Given the description of an element on the screen output the (x, y) to click on. 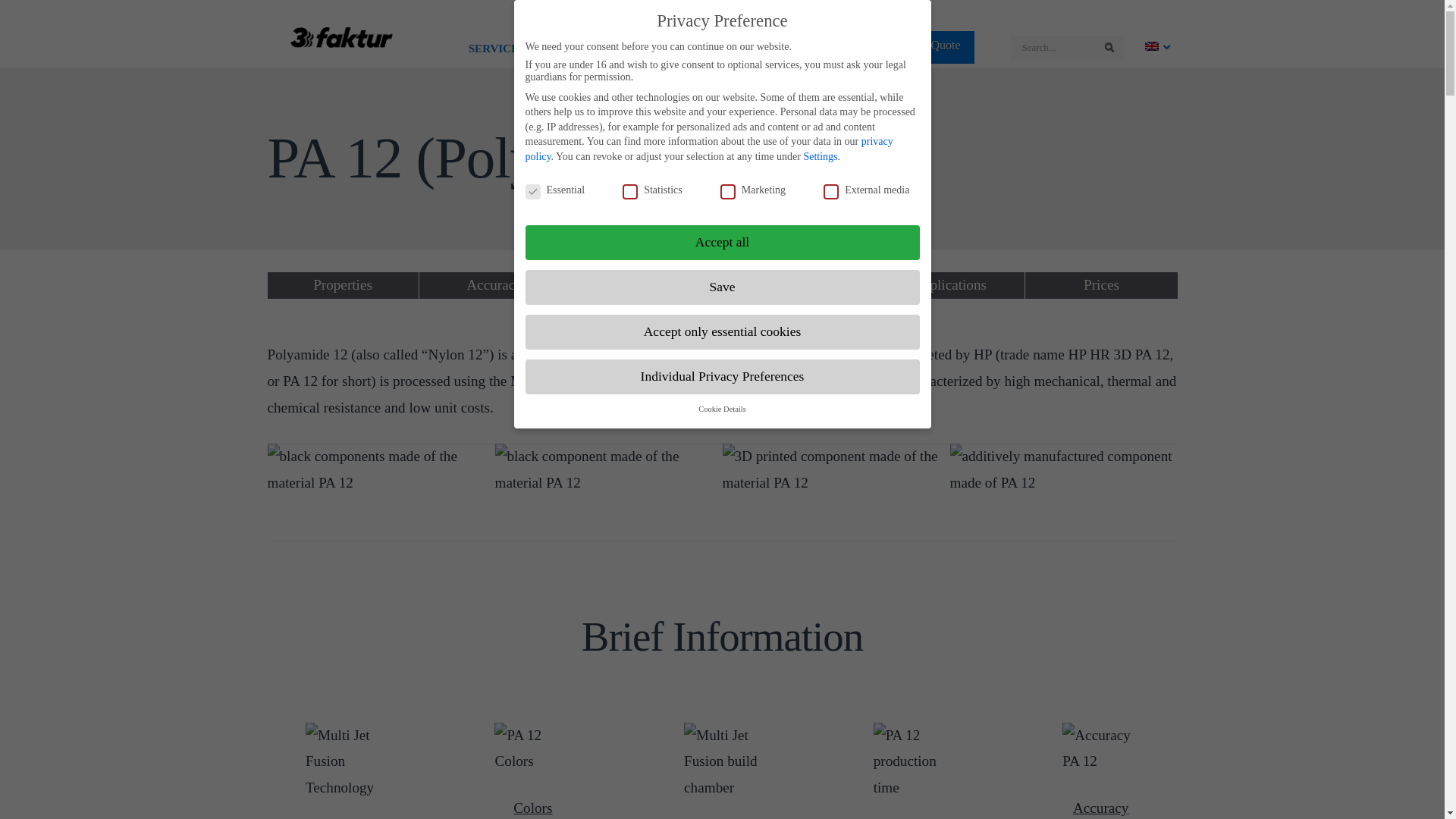
Accept all Element type: text (721, 242)
Cookie Details Element type: text (722, 408)
Settings Element type: text (820, 156)
Search Element type: text (1108, 47)
Accuracy Element type: text (494, 284)
Properties Element type: text (342, 284)
Design Guidelines Element type: text (797, 284)
Instant Quote Element type: text (927, 47)
Search Element type: hover (1108, 47)
Accept only essential cookies Element type: text (721, 331)
privacy policy Element type: text (708, 148)
ABOUT US Element type: text (804, 49)
Applications Element type: text (949, 284)
Individual Privacy Preferences Element type: text (721, 376)
Finishing Element type: text (646, 284)
Prices Element type: text (1101, 284)
Save Element type: text (721, 286)
